Given the description of an element on the screen output the (x, y) to click on. 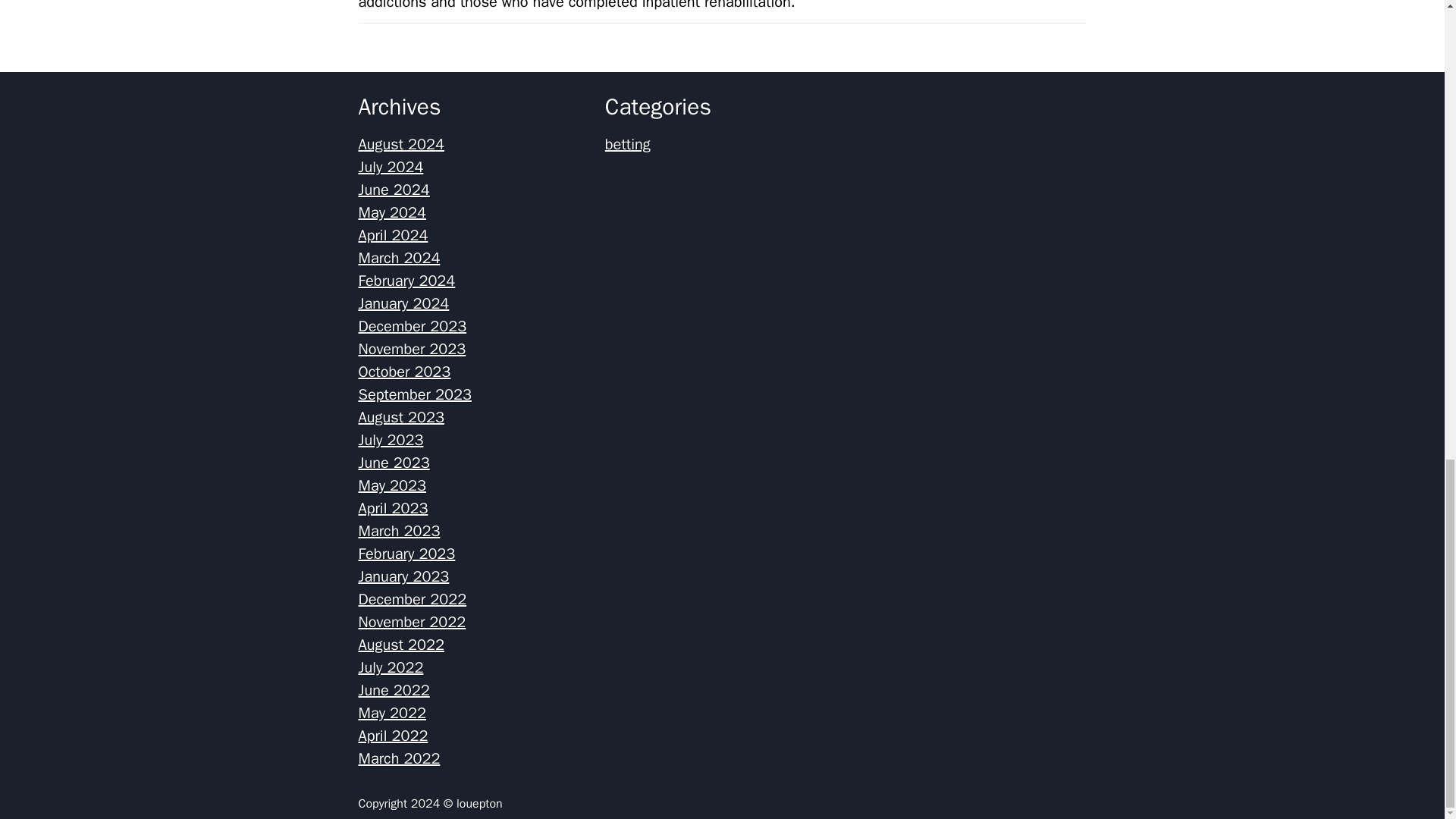
June 2022 (393, 690)
January 2023 (403, 576)
August 2022 (401, 644)
November 2023 (411, 348)
September 2023 (414, 394)
April 2024 (393, 235)
July 2023 (390, 439)
April 2023 (393, 507)
June 2023 (393, 462)
February 2023 (406, 553)
